Given the description of an element on the screen output the (x, y) to click on. 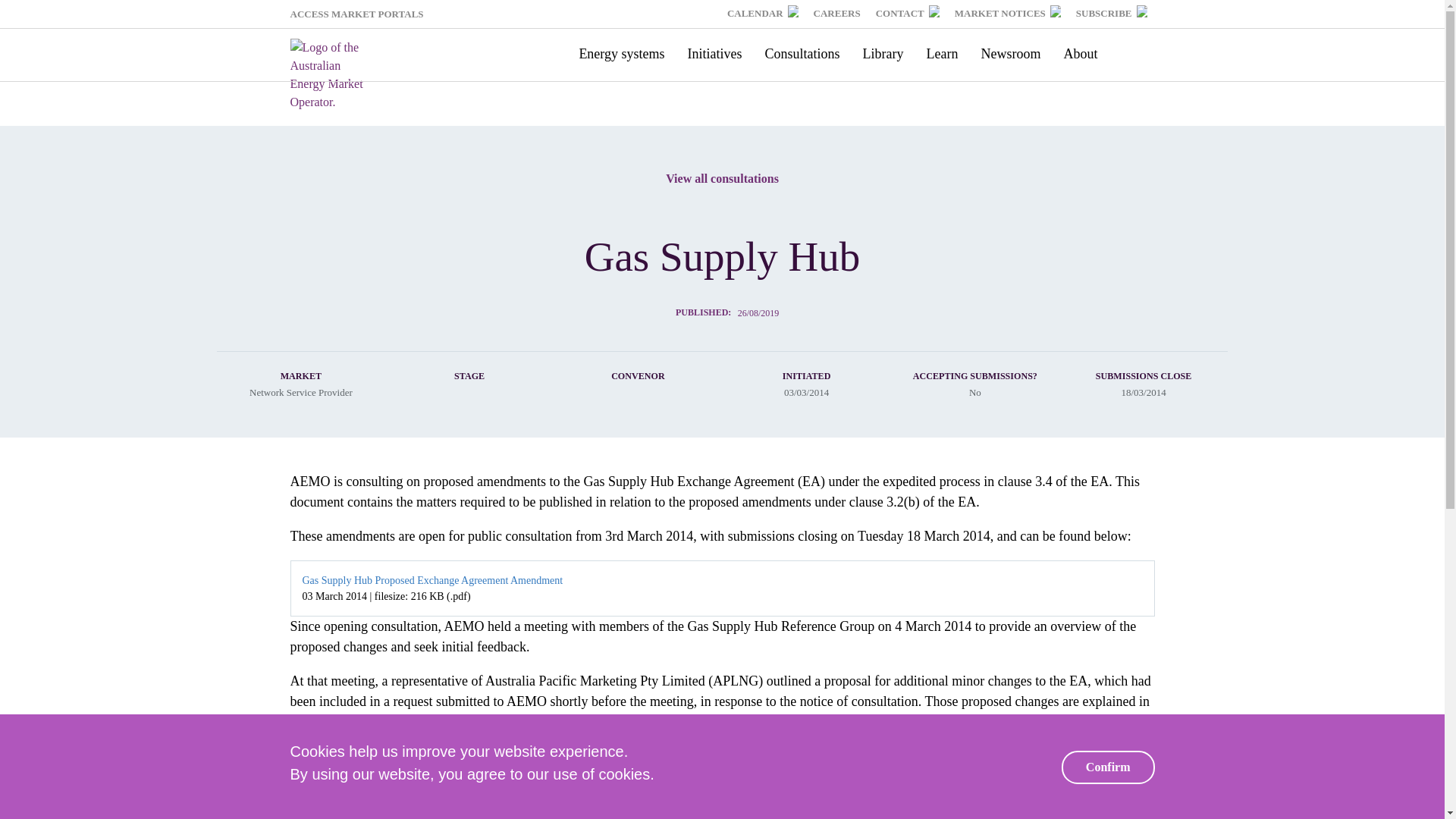
ACCESS MARKET PORTALS (362, 14)
CONTACT (907, 13)
CAREERS (836, 13)
MARKET NOTICES (1007, 13)
SUBSCRIBE (1111, 13)
Energy systems (621, 53)
CALENDAR (762, 13)
